Given the description of an element on the screen output the (x, y) to click on. 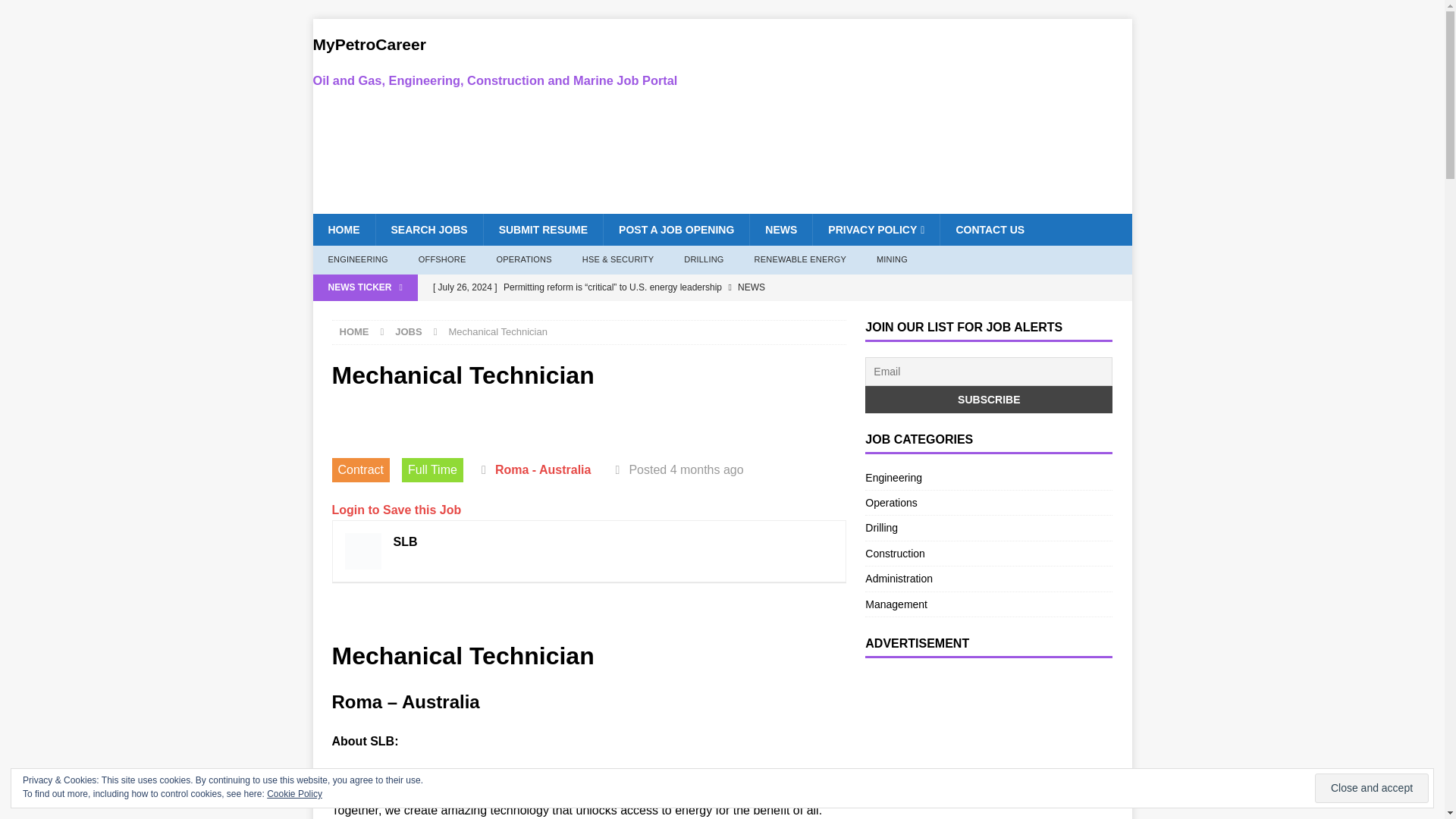
DRILLING (703, 259)
HOME (354, 331)
JOBS (408, 331)
Engineering (988, 479)
Close and accept (1371, 788)
MyPetroCareer (495, 60)
SUBMIT RESUME (542, 229)
OFFSHORE (442, 259)
RENEWABLE ENERGY (800, 259)
CONTACT US (989, 229)
Jobs (408, 331)
NEWS (780, 229)
Subscribe (988, 399)
SEARCH JOBS (427, 229)
MINING (892, 259)
